Given the description of an element on the screen output the (x, y) to click on. 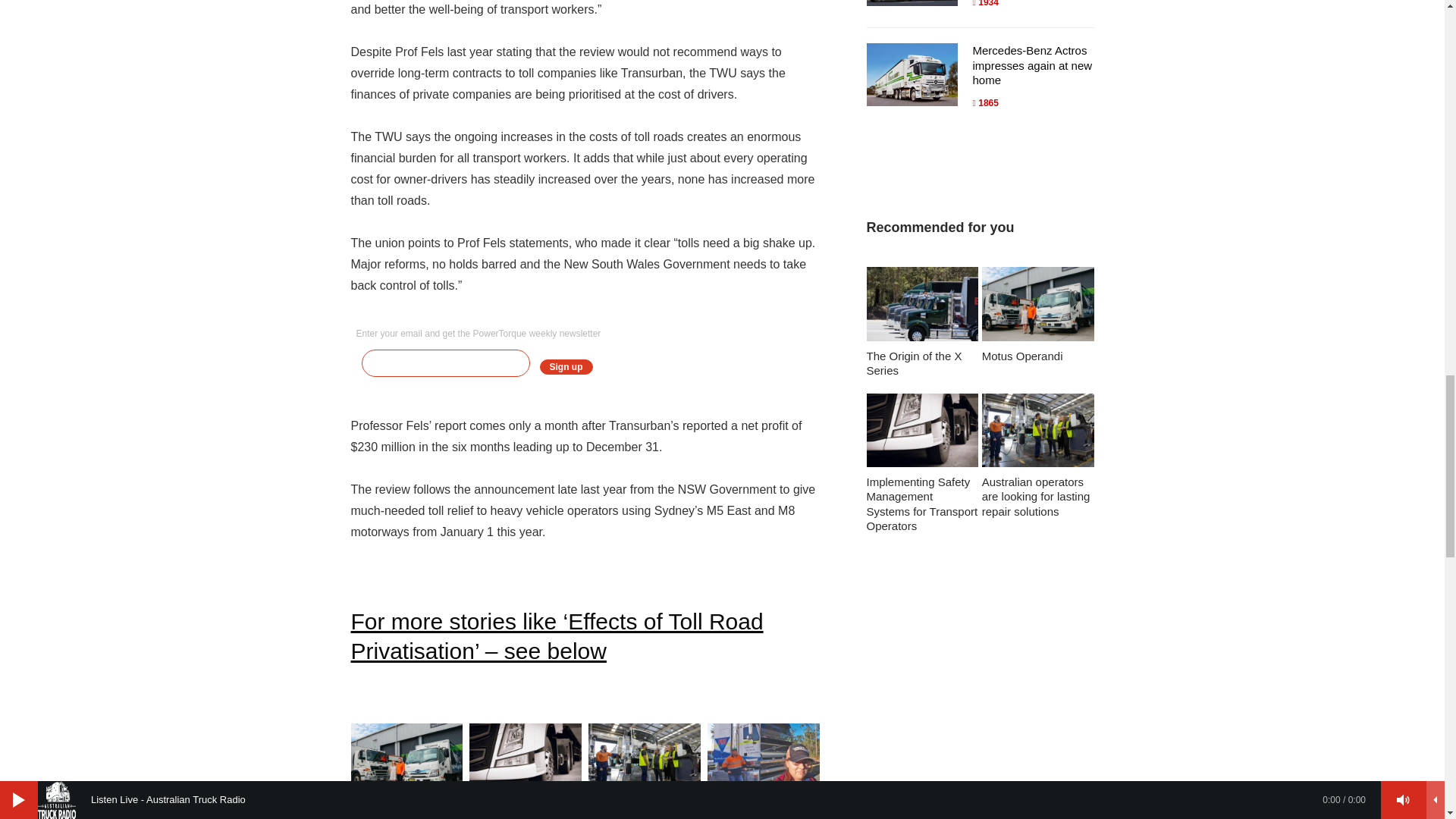
Truckies biggest issues in 2024 (763, 771)
Motus Operandi (406, 771)
articleSignup (585, 362)
